Given the description of an element on the screen output the (x, y) to click on. 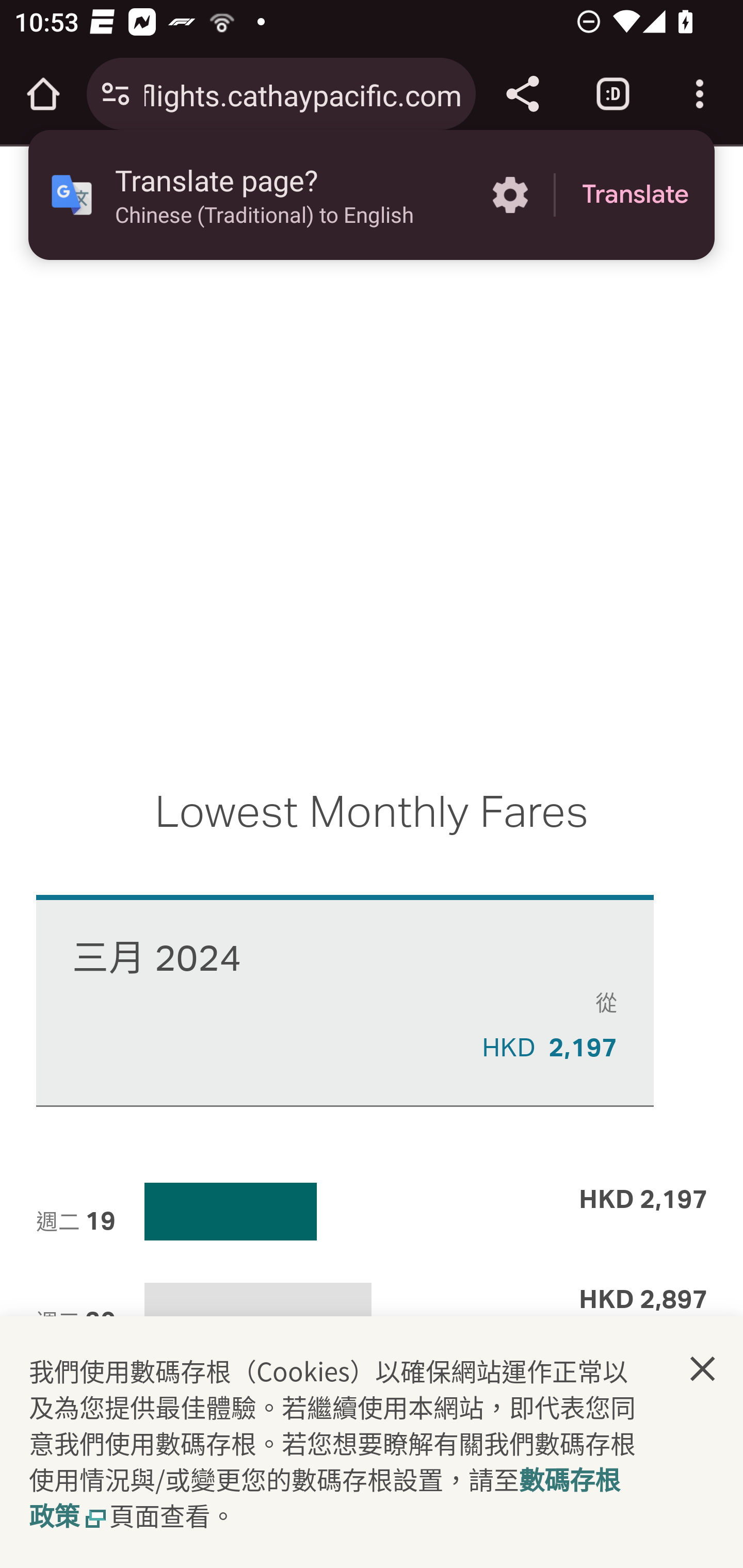
Open the home page (43, 93)
Connection is secure (115, 93)
Share (522, 93)
Switch or close tabs (612, 93)
Customize and control Google Chrome (699, 93)
Translate (634, 195)
More options in the Translate page? (509, 195)
